Given the description of an element on the screen output the (x, y) to click on. 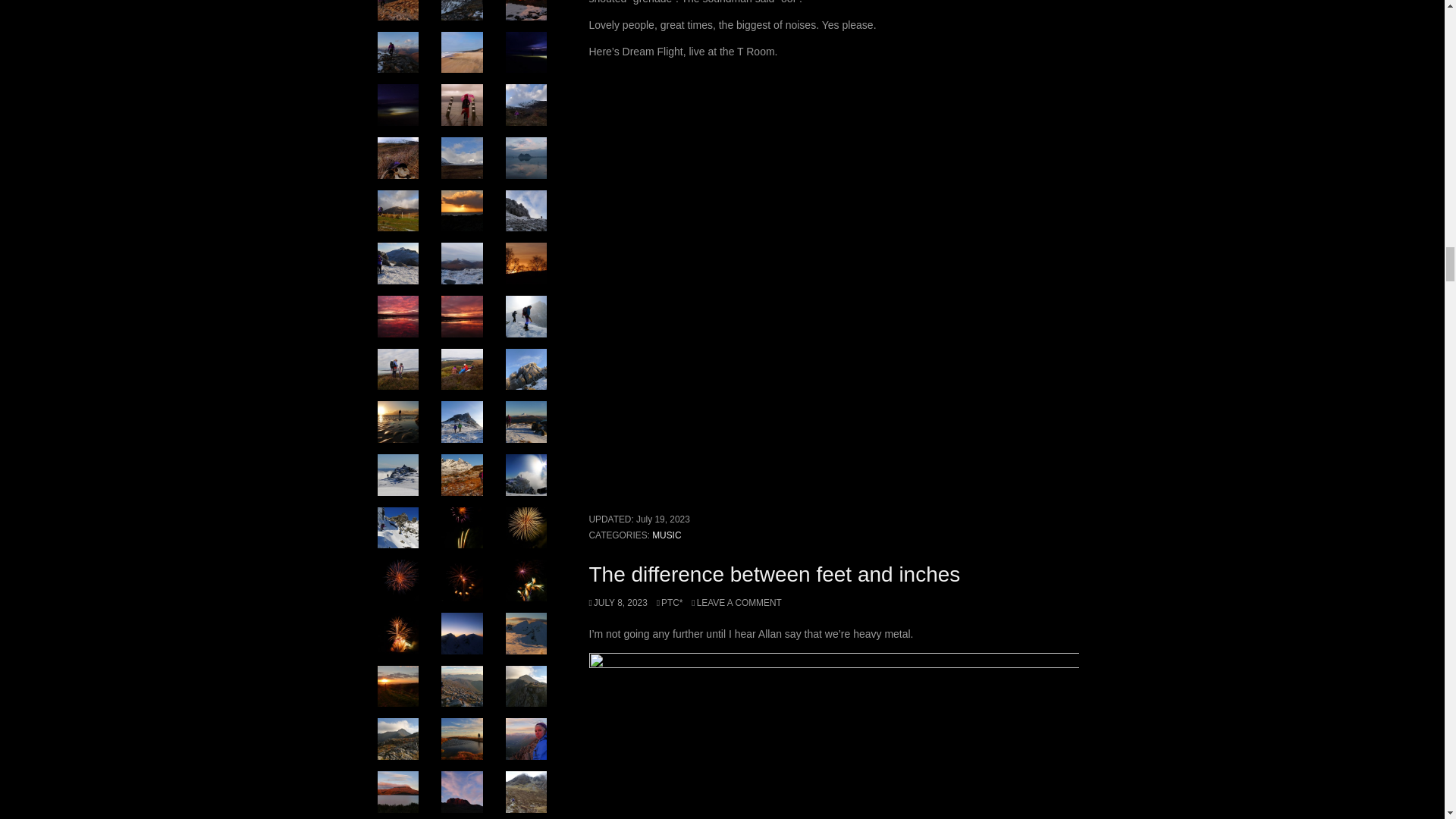
July 19, 2023 (663, 519)
JULY 8, 2023 (617, 602)
MUSIC (666, 534)
The difference between feet and inches (773, 574)
LEAVE A COMMENT (735, 602)
